Given the description of an element on the screen output the (x, y) to click on. 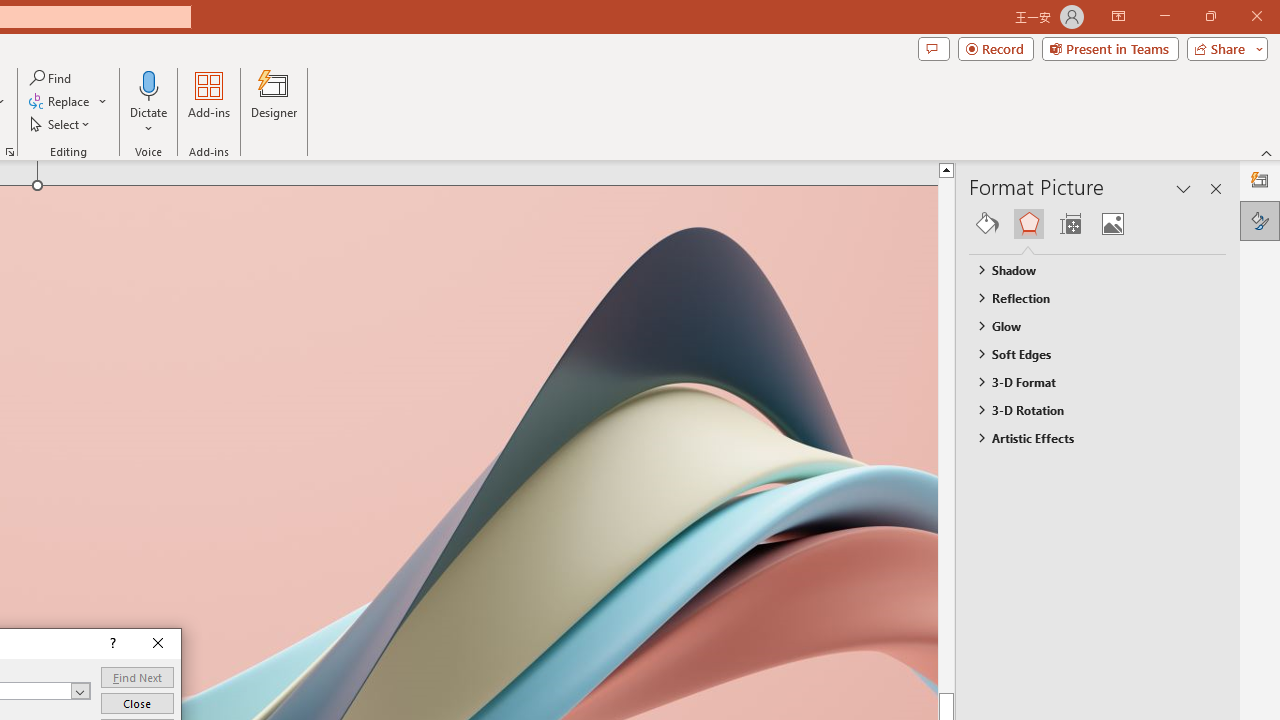
Size & Properties (1070, 223)
Comments (933, 48)
Task Pane Options (1183, 188)
Format Picture (1260, 220)
Class: NetUIImage (980, 437)
Page up (983, 434)
3-D Format (1088, 381)
3-D Rotation (1088, 410)
Picture (1112, 223)
Artistic Effects (1088, 438)
Ribbon Display Options (1118, 16)
Replace... (68, 101)
Context help (111, 643)
